Given the description of an element on the screen output the (x, y) to click on. 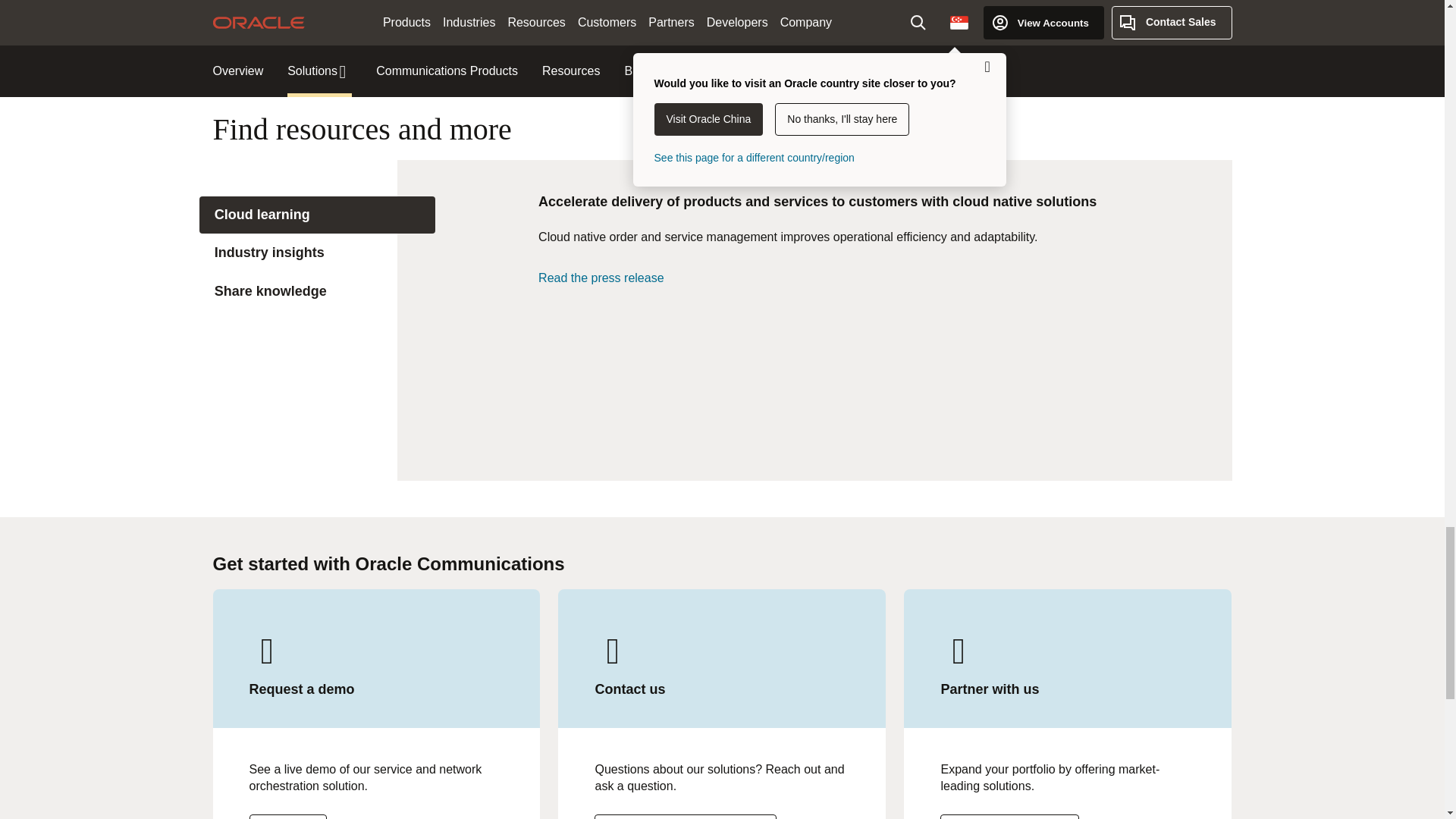
Request a demo (287, 816)
Request a demo (685, 816)
